Given the description of an element on the screen output the (x, y) to click on. 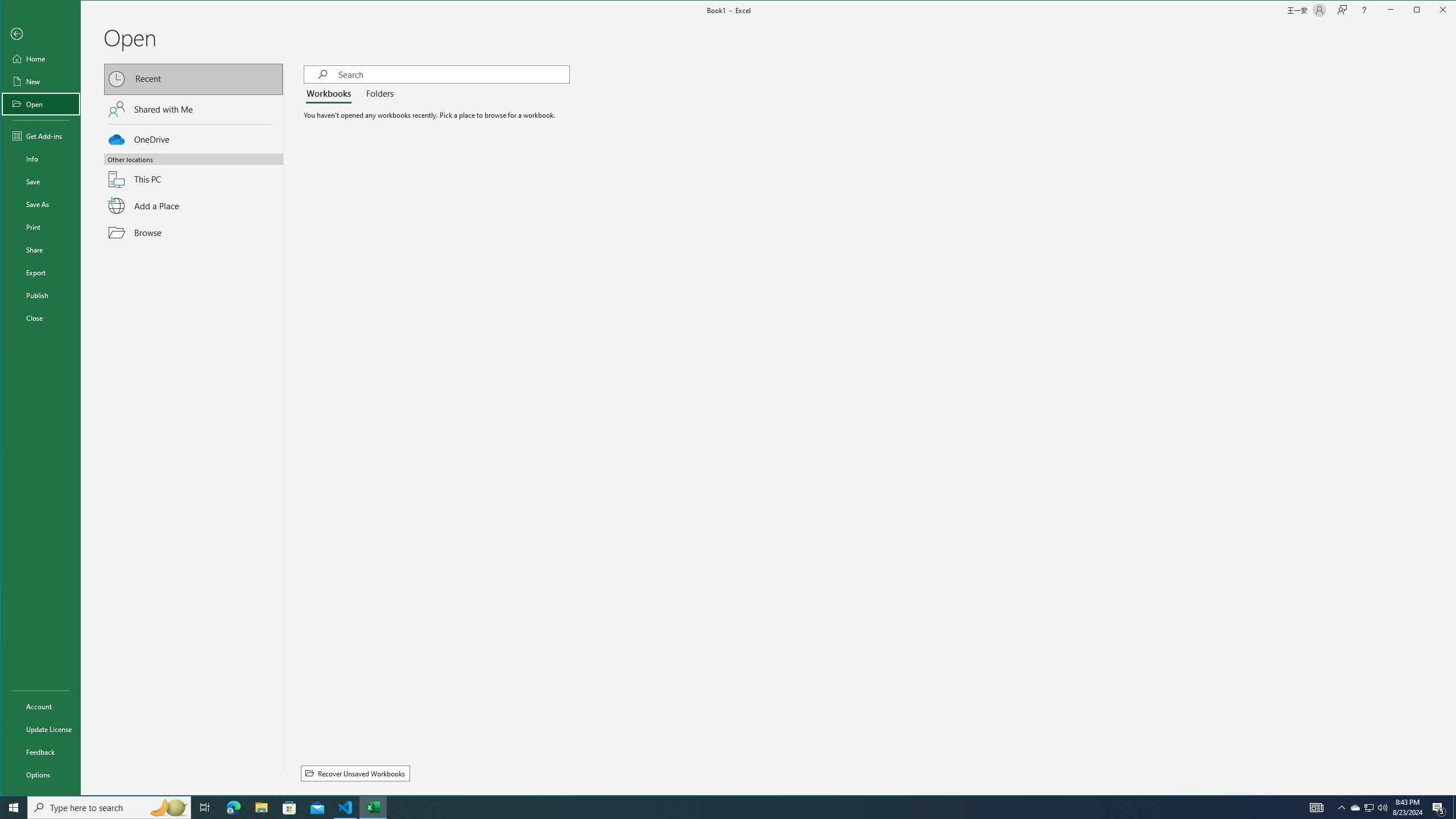
Action Center, 5 new notifications (1439, 807)
Info (40, 158)
Microsoft Store (1355, 807)
Type here to search (289, 807)
Save As (108, 807)
File Explorer (40, 203)
Q2790: 100% (261, 807)
Running applications (1382, 807)
